Given the description of an element on the screen output the (x, y) to click on. 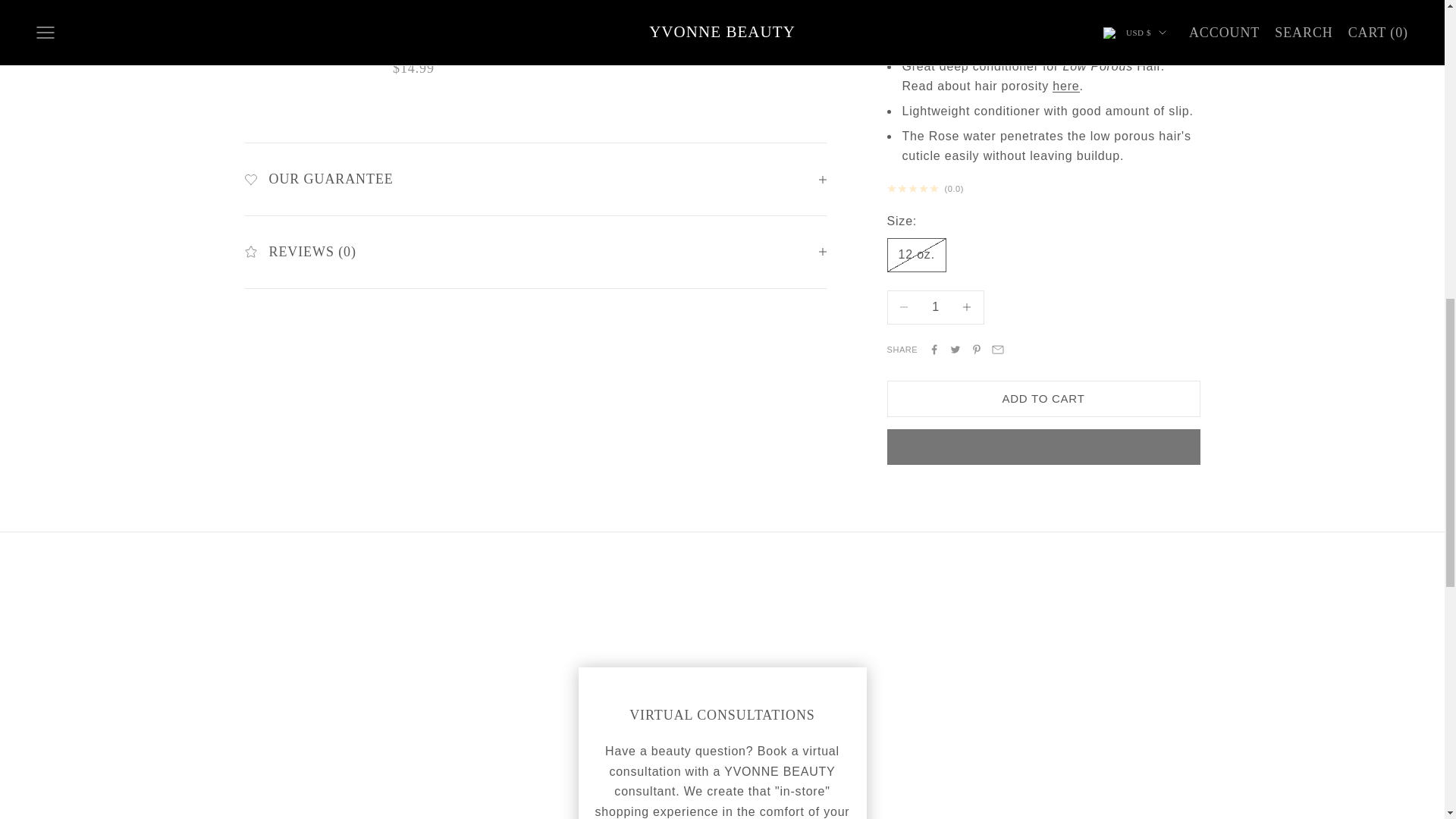
1 (935, 307)
No reviews (1042, 188)
